Given the description of an element on the screen output the (x, y) to click on. 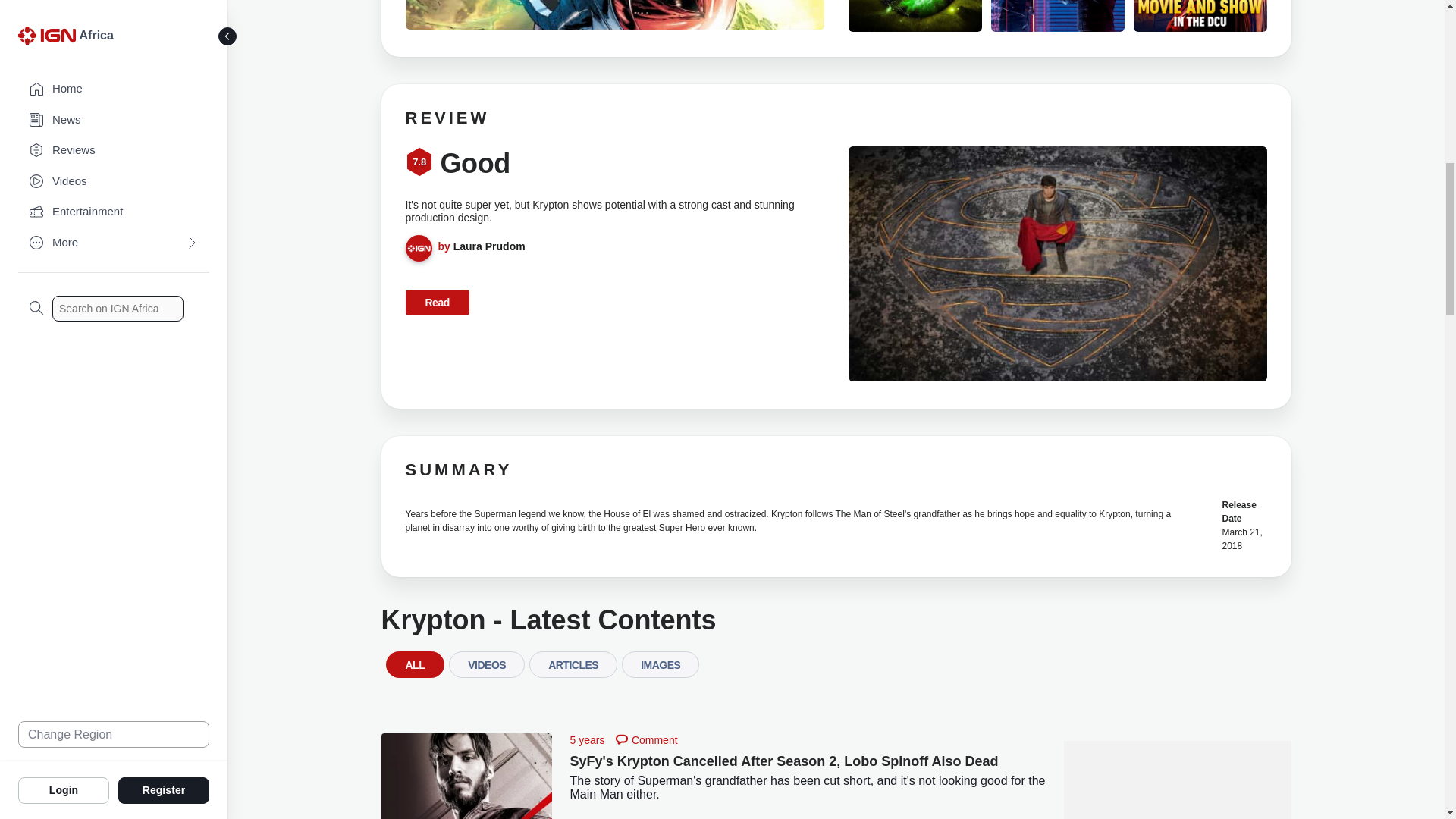
Read (436, 302)
ALL (414, 668)
7.8 (418, 163)
Read (436, 301)
Laura Prudom (488, 246)
